Given the description of an element on the screen output the (x, y) to click on. 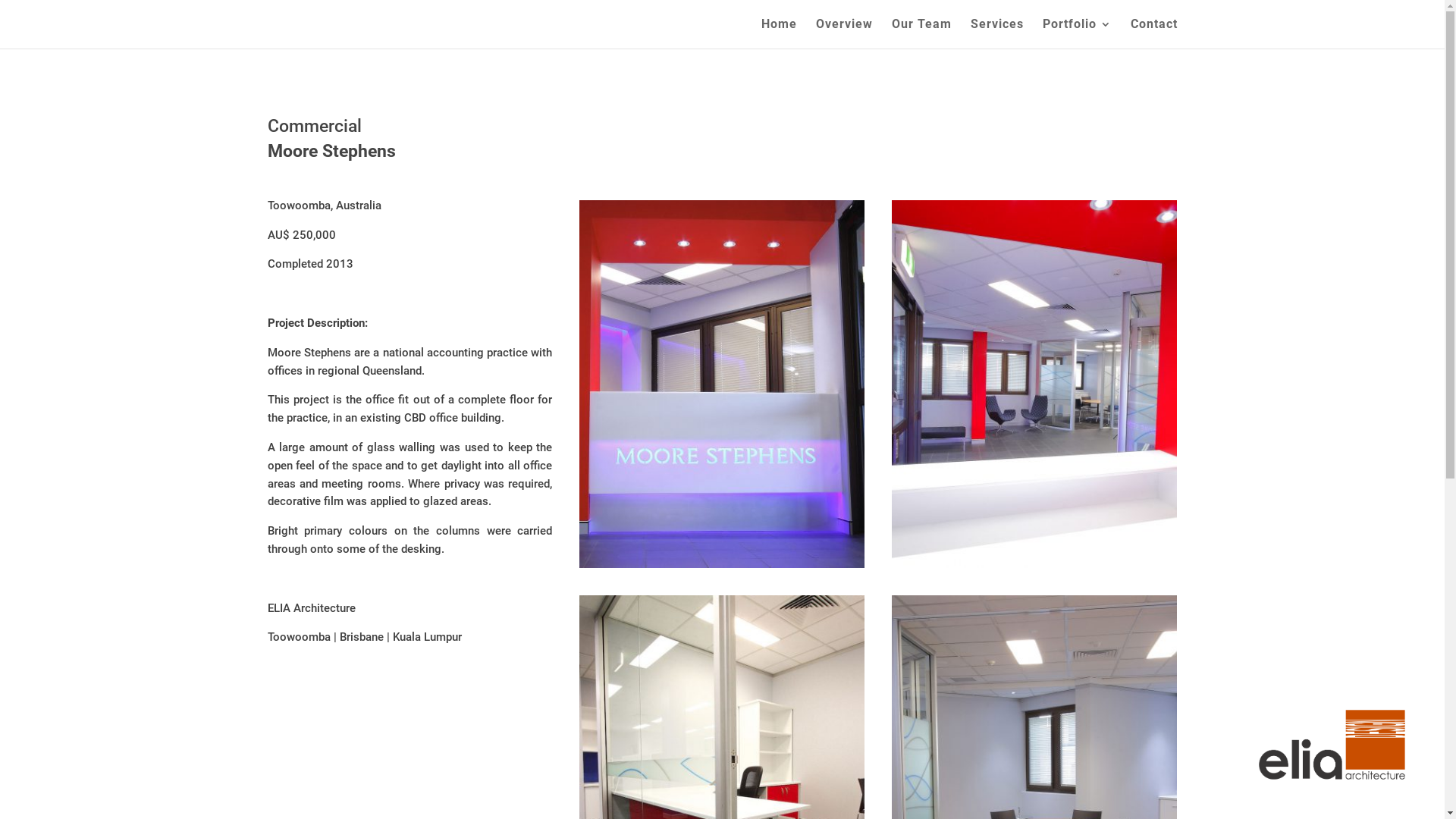
Home Element type: text (779, 33)
Overview Element type: text (843, 33)
Moore Stephens01 Element type: hover (1033, 564)
Our Team Element type: text (921, 33)
Contact Element type: text (1152, 33)
MOORE STEPHENS OFFICES Element type: hover (721, 564)
Portfolio Element type: text (1075, 33)
500px Element type: hover (1331, 744)
Commercial Element type: text (313, 126)
Services Element type: text (996, 33)
